Given the description of an element on the screen output the (x, y) to click on. 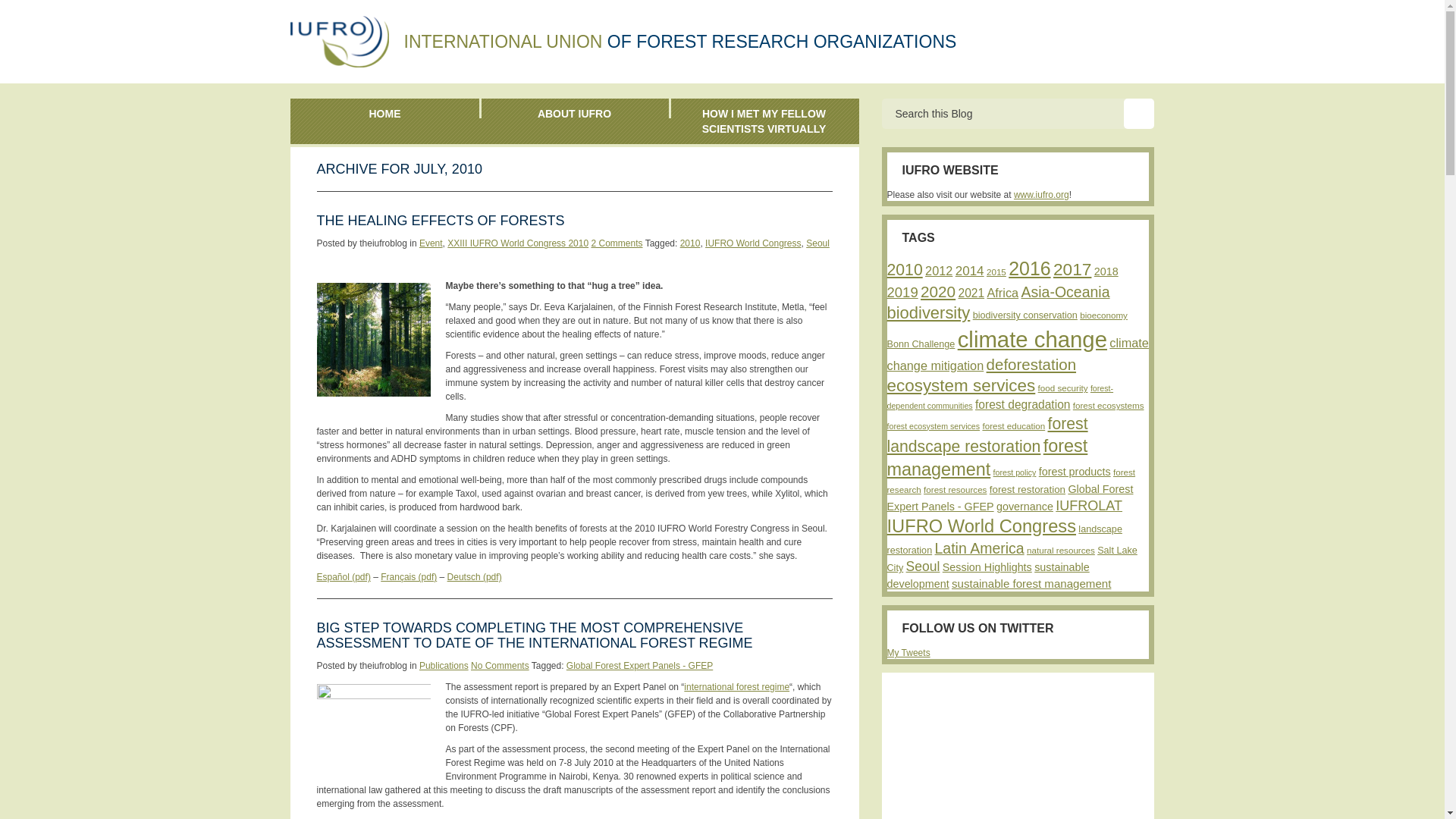
Group photo during GFEP meeting in Nairobi (373, 725)
HOME (384, 113)
Search (1139, 113)
HOW I MET MY FELLOW SCIENTISTS VIRTUALLY (763, 121)
OLYMPUS DIGITAL CAMERA (373, 339)
ABOUT IUFRO (573, 113)
